Given the description of an element on the screen output the (x, y) to click on. 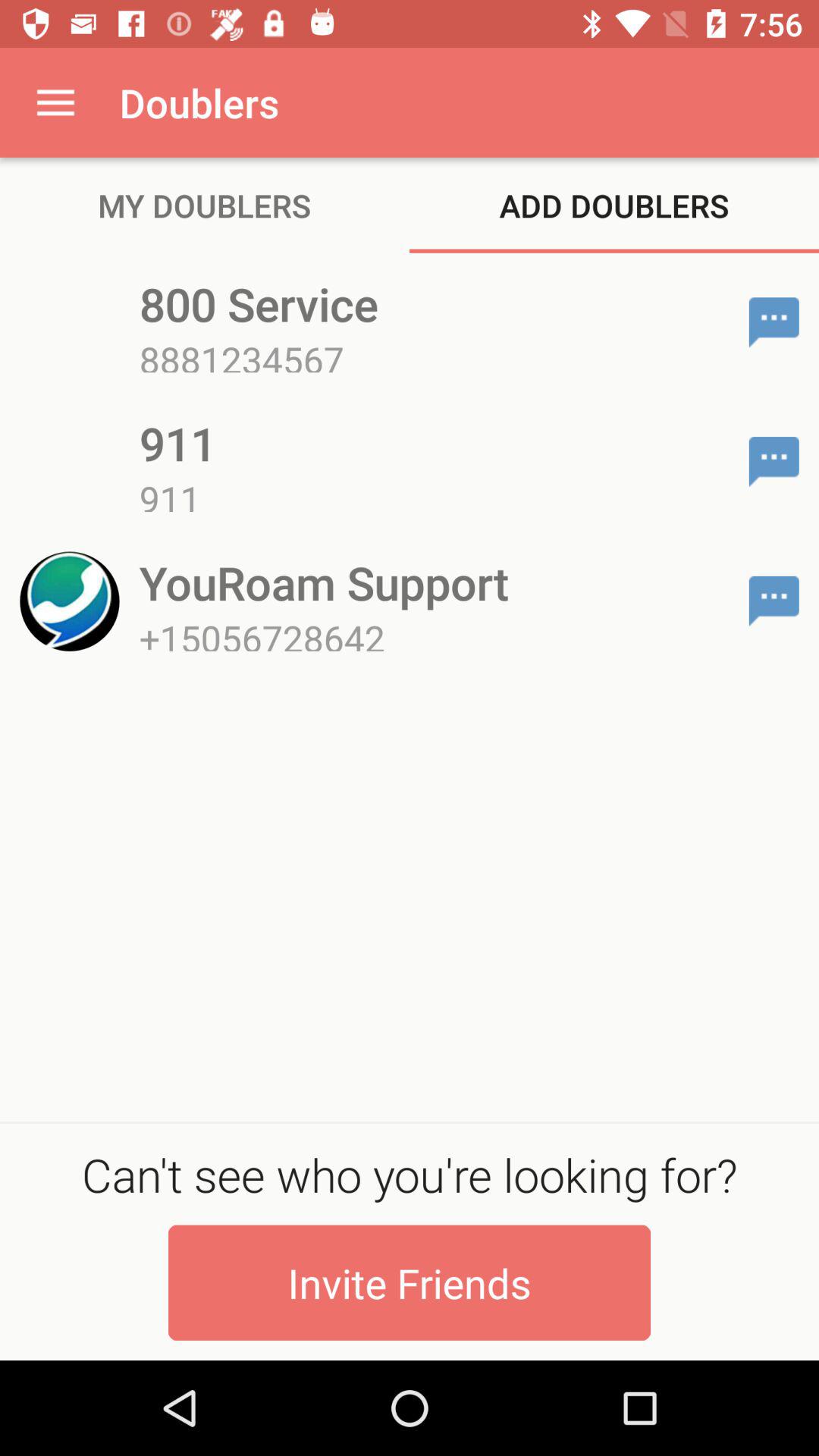
send text message to 800 service (774, 322)
